Given the description of an element on the screen output the (x, y) to click on. 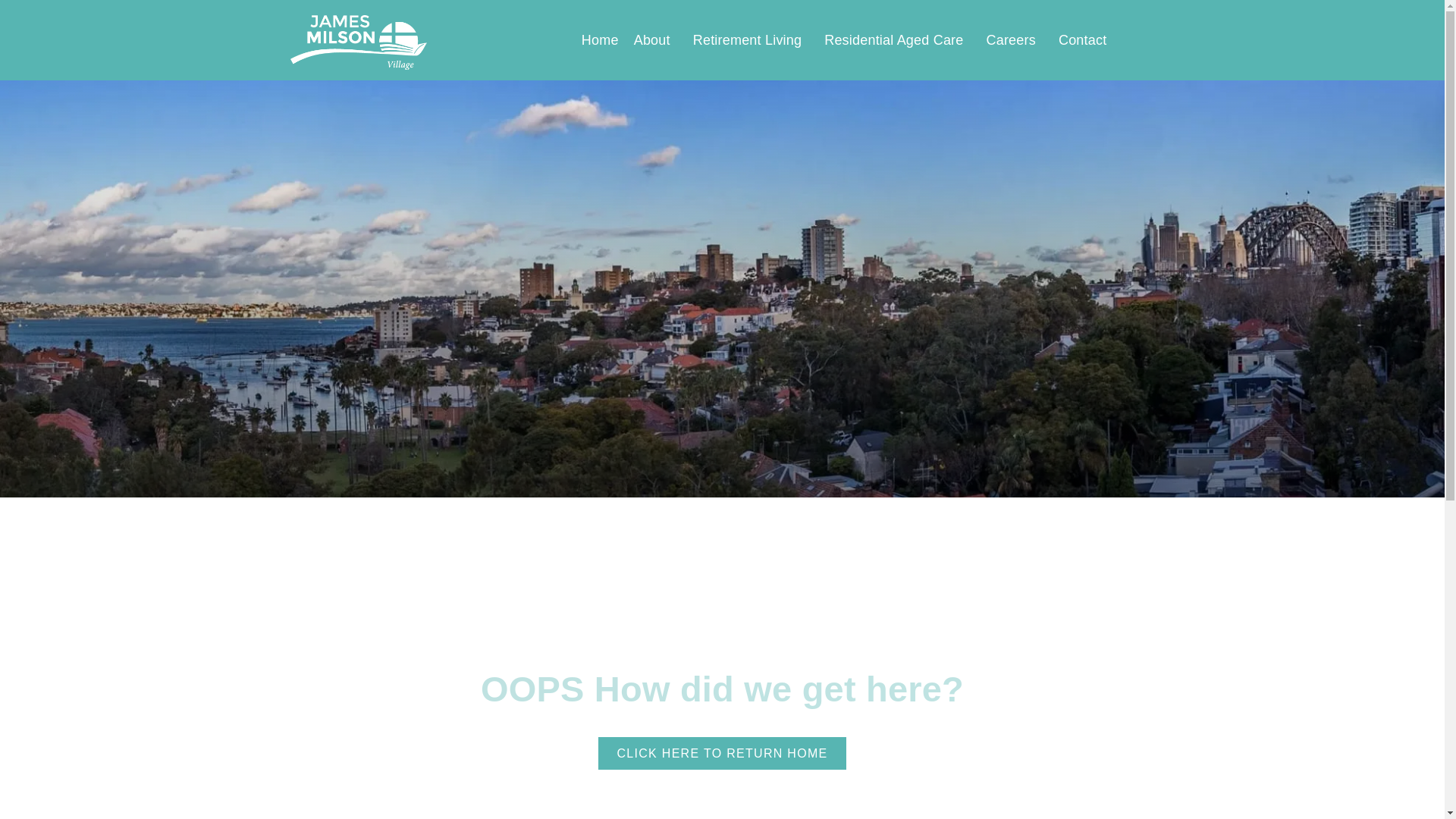
CLICK HERE TO RETURN HOME Element type: text (721, 753)
Retirement Living Element type: text (750, 40)
Careers Element type: text (1015, 40)
Residential Aged Care Element type: text (897, 40)
Contact Element type: text (1082, 40)
About Element type: text (655, 40)
Home Element type: text (600, 40)
